Given the description of an element on the screen output the (x, y) to click on. 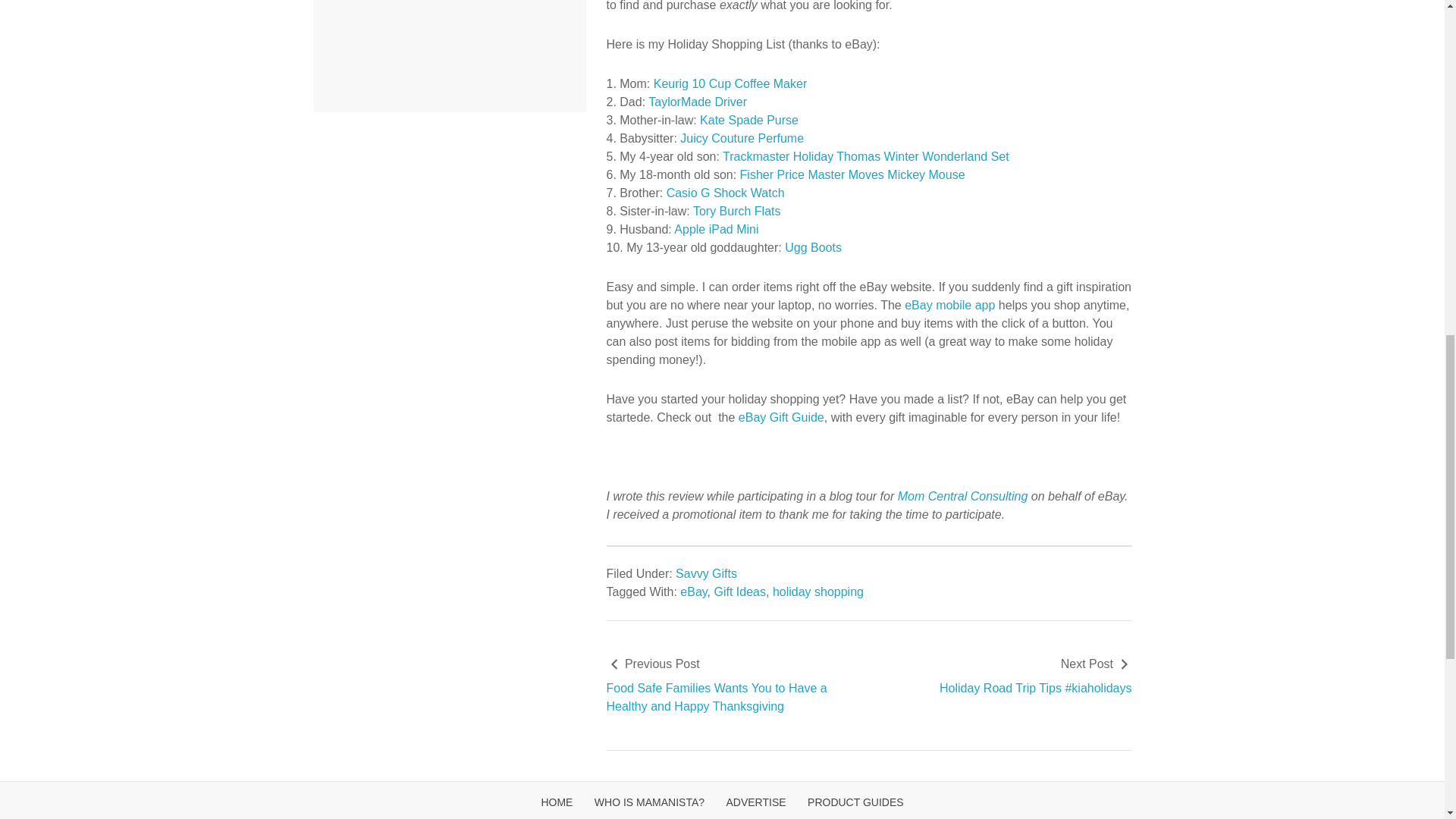
Casio G Shock Watch (725, 192)
Gift Ideas (739, 591)
Fisher Price Master Moves Mickey Mouse (852, 174)
Savvy Gifts (705, 573)
Mom Central Consulting (962, 495)
TaylorMade Driver (696, 101)
Tory Burch Flats (736, 210)
Ugg Boots (812, 246)
Apple iPad Mini (714, 228)
Keurig 10 Cup Coffee Maker (727, 83)
